Given the description of an element on the screen output the (x, y) to click on. 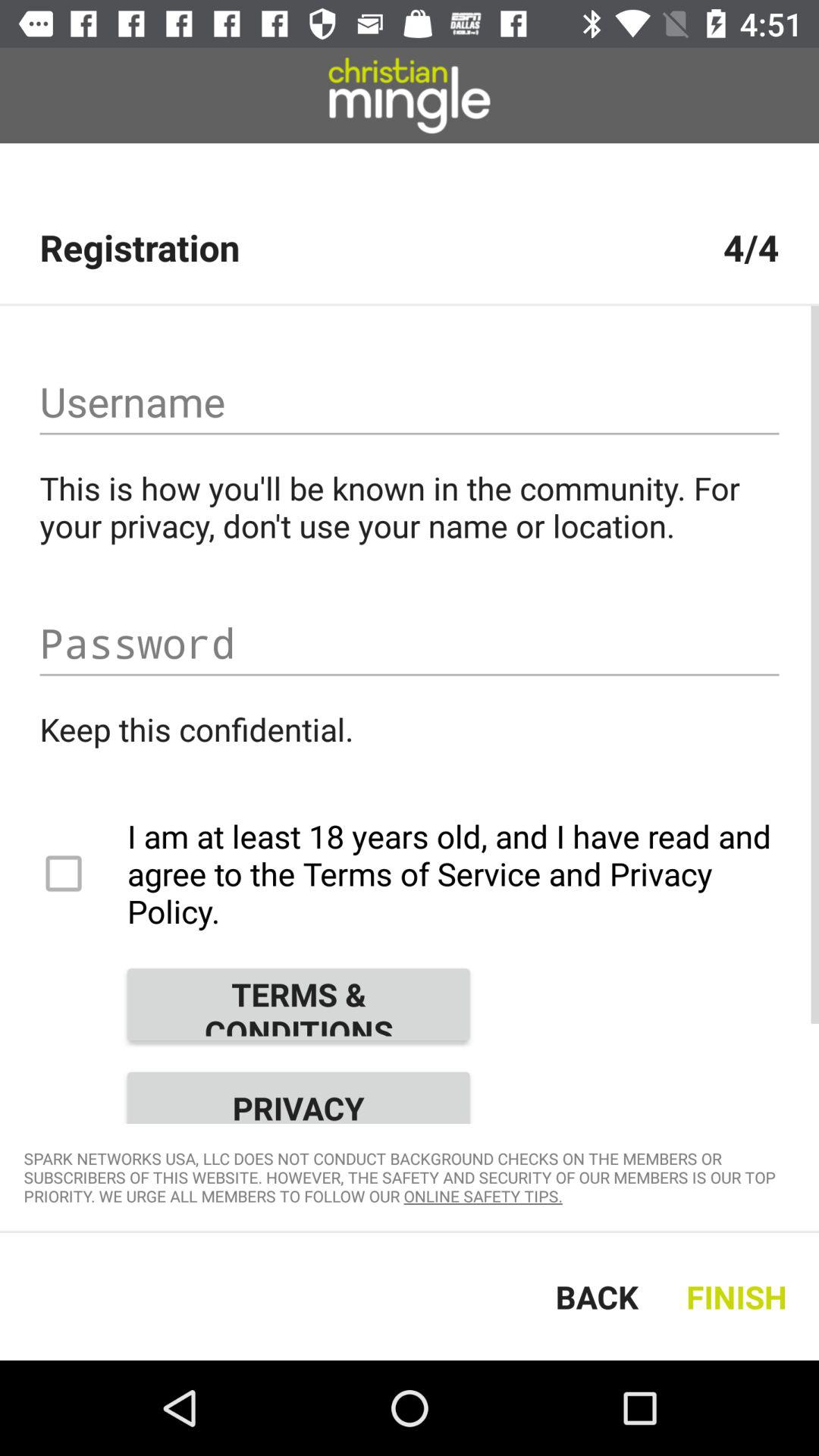
open the finish (740, 1296)
